Given the description of an element on the screen output the (x, y) to click on. 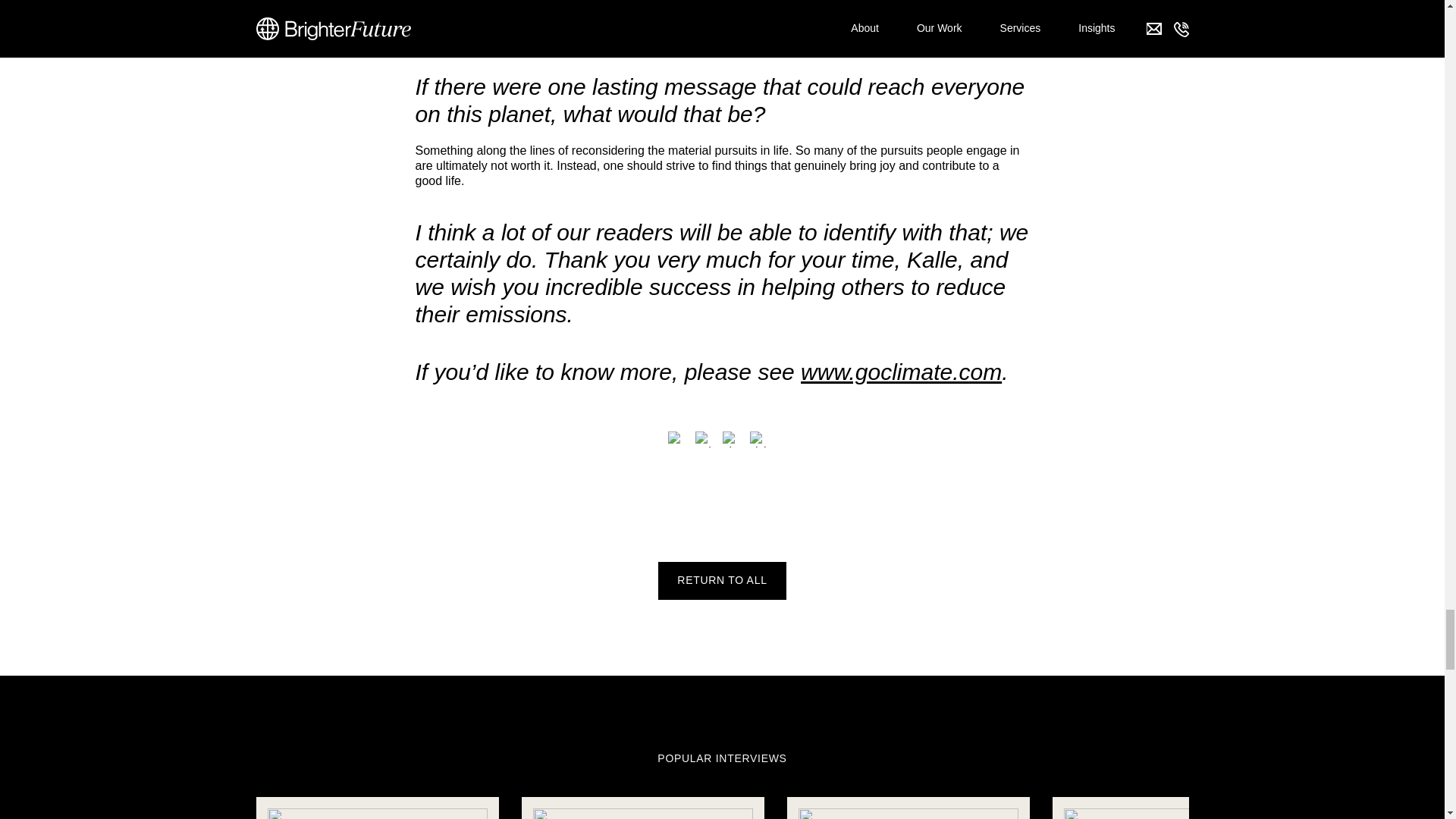
RETURN TO ALL (722, 580)
www.goclimate.com (900, 371)
